Given the description of an element on the screen output the (x, y) to click on. 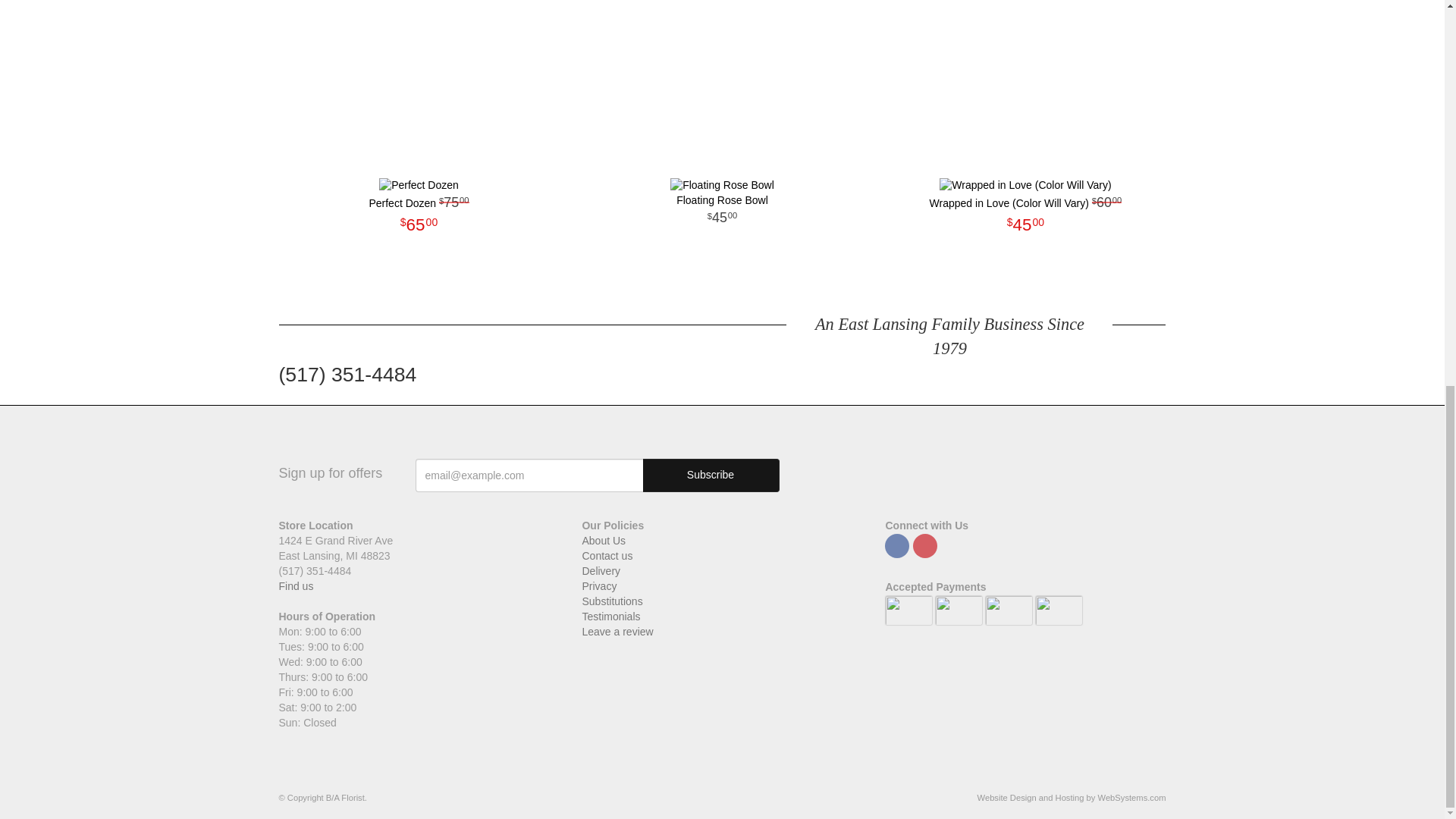
Subscribe (710, 475)
